Given the description of an element on the screen output the (x, y) to click on. 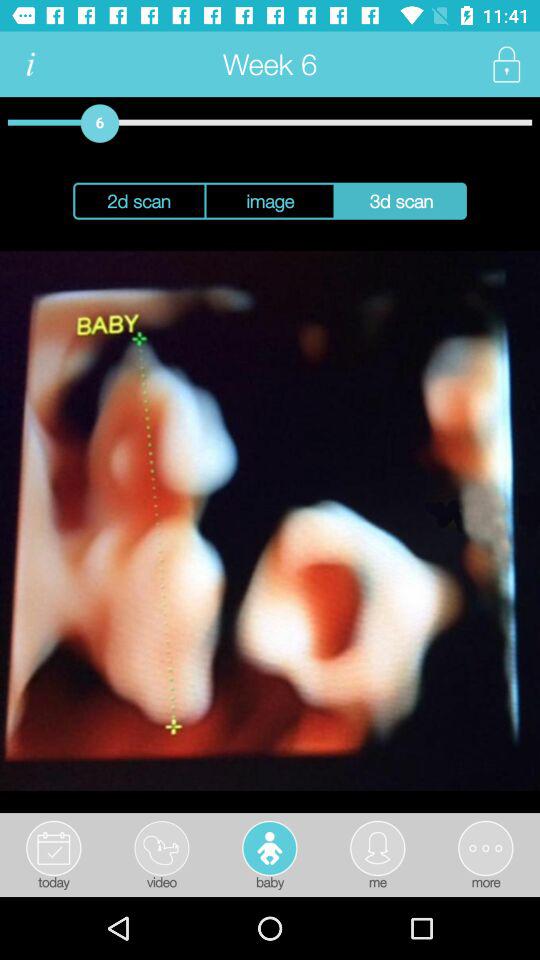
block this (506, 63)
